Given the description of an element on the screen output the (x, y) to click on. 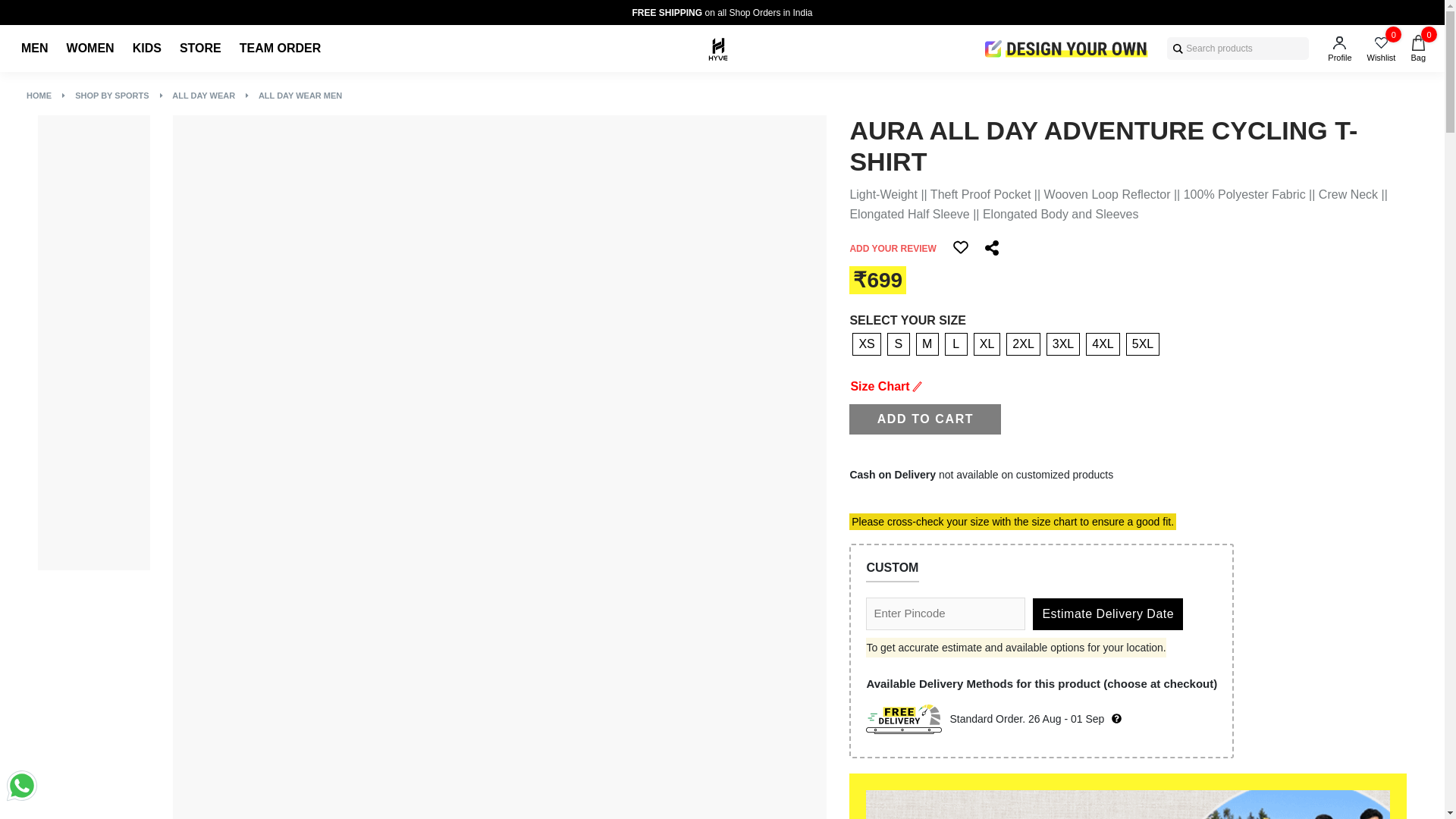
3XL (1063, 343)
MEN (34, 47)
5XL (1141, 343)
L (956, 343)
4XL (1102, 343)
M (927, 343)
2XL (1022, 343)
S (898, 343)
XS (865, 343)
XL (987, 343)
